Given the description of an element on the screen output the (x, y) to click on. 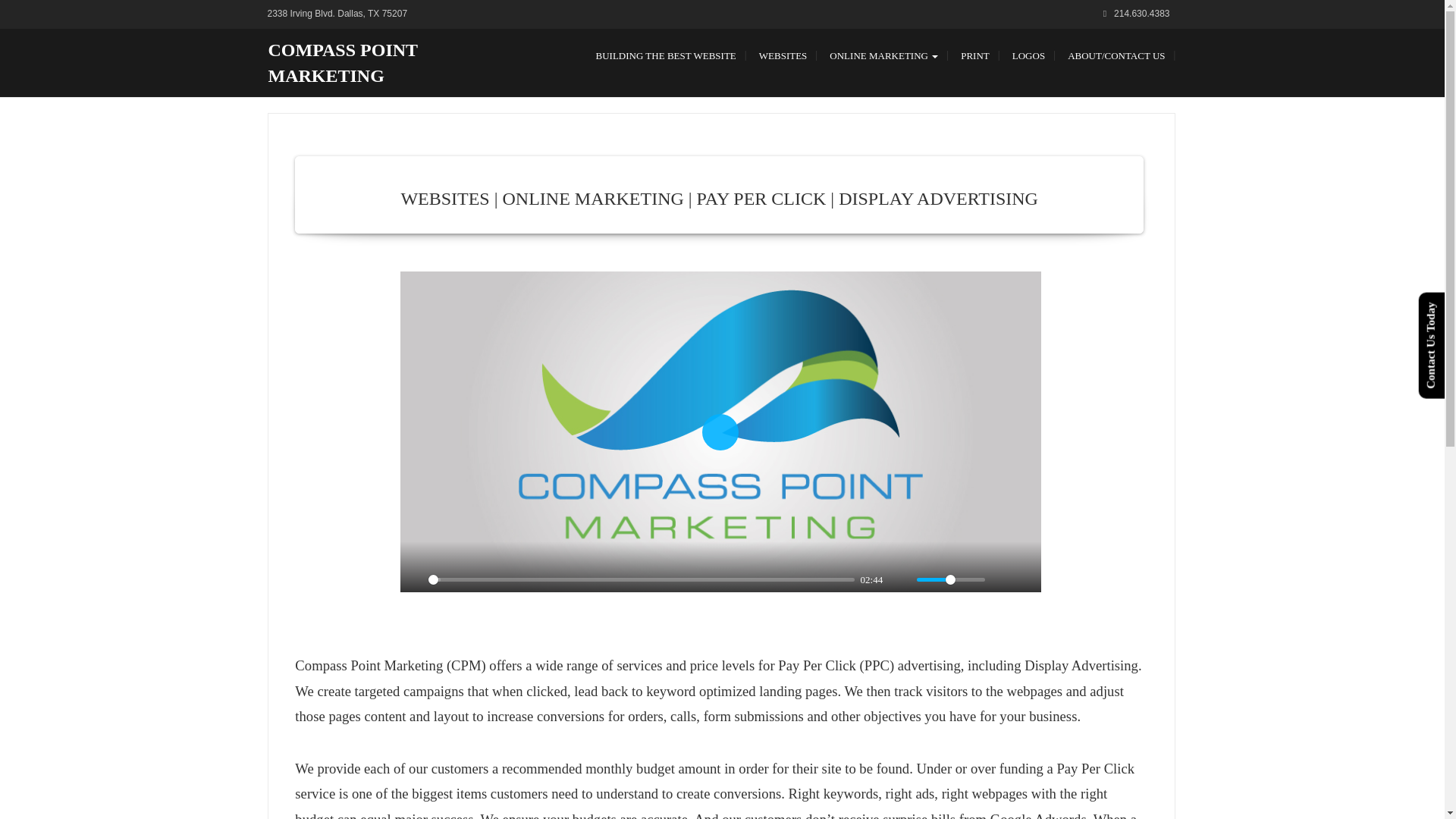
Logos (1029, 55)
Websites (783, 55)
PRINT (975, 55)
0.5 (951, 579)
Online Marketing (883, 55)
0 (642, 579)
Print (975, 55)
Play (719, 432)
Building the Best Website (666, 55)
ONLINE MARKETING (883, 55)
BUILDING THE BEST WEBSITE (666, 55)
WEBSITES (783, 55)
LOGOS (1029, 55)
COMPASS POINT MARKETING (342, 62)
